Given the description of an element on the screen output the (x, y) to click on. 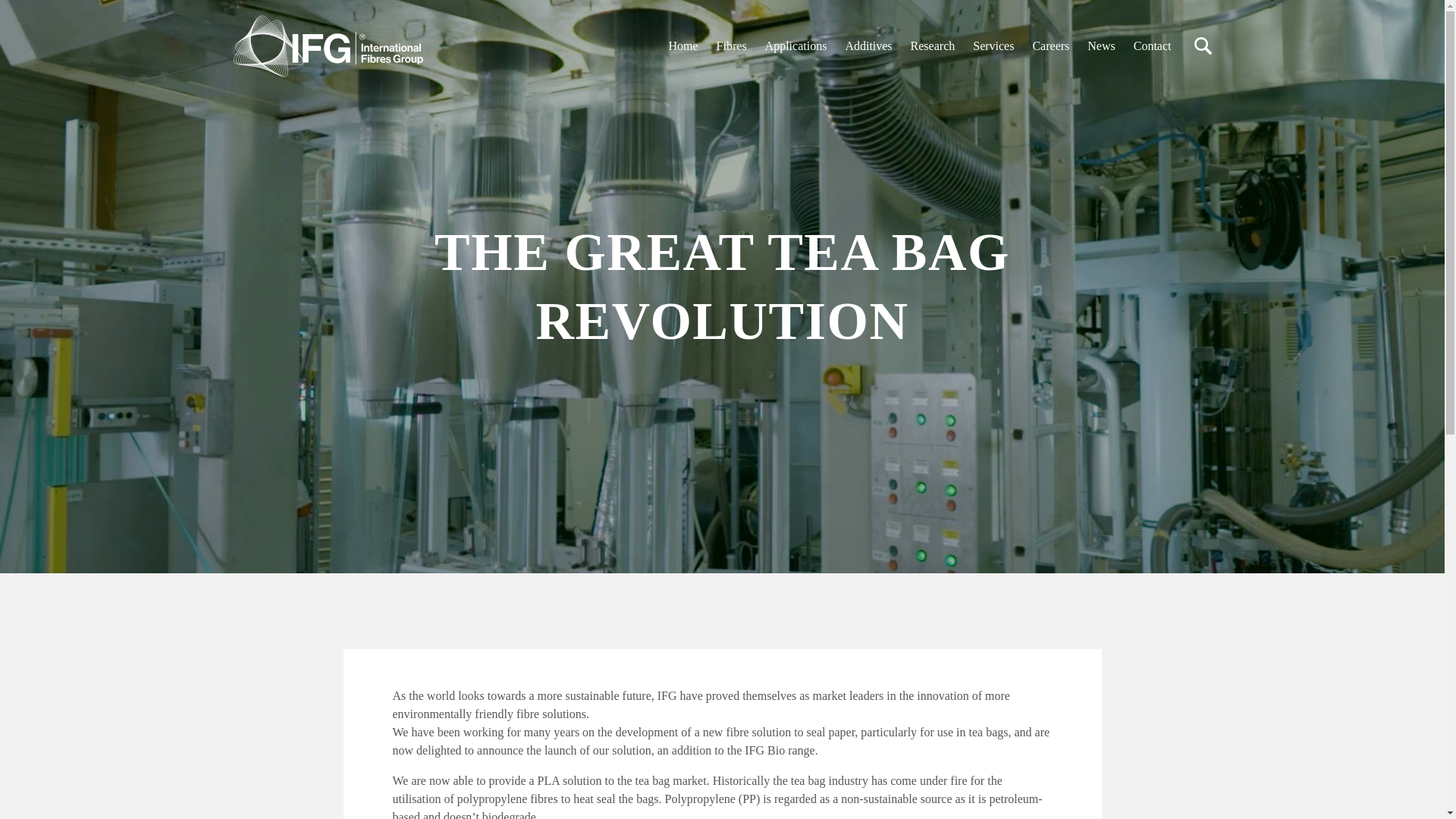
Research (933, 45)
Applications (796, 45)
News (1101, 45)
Contact (1153, 45)
Careers (1050, 45)
Additives (867, 45)
Services (992, 45)
Fibres (731, 45)
Home (683, 45)
